Given the description of an element on the screen output the (x, y) to click on. 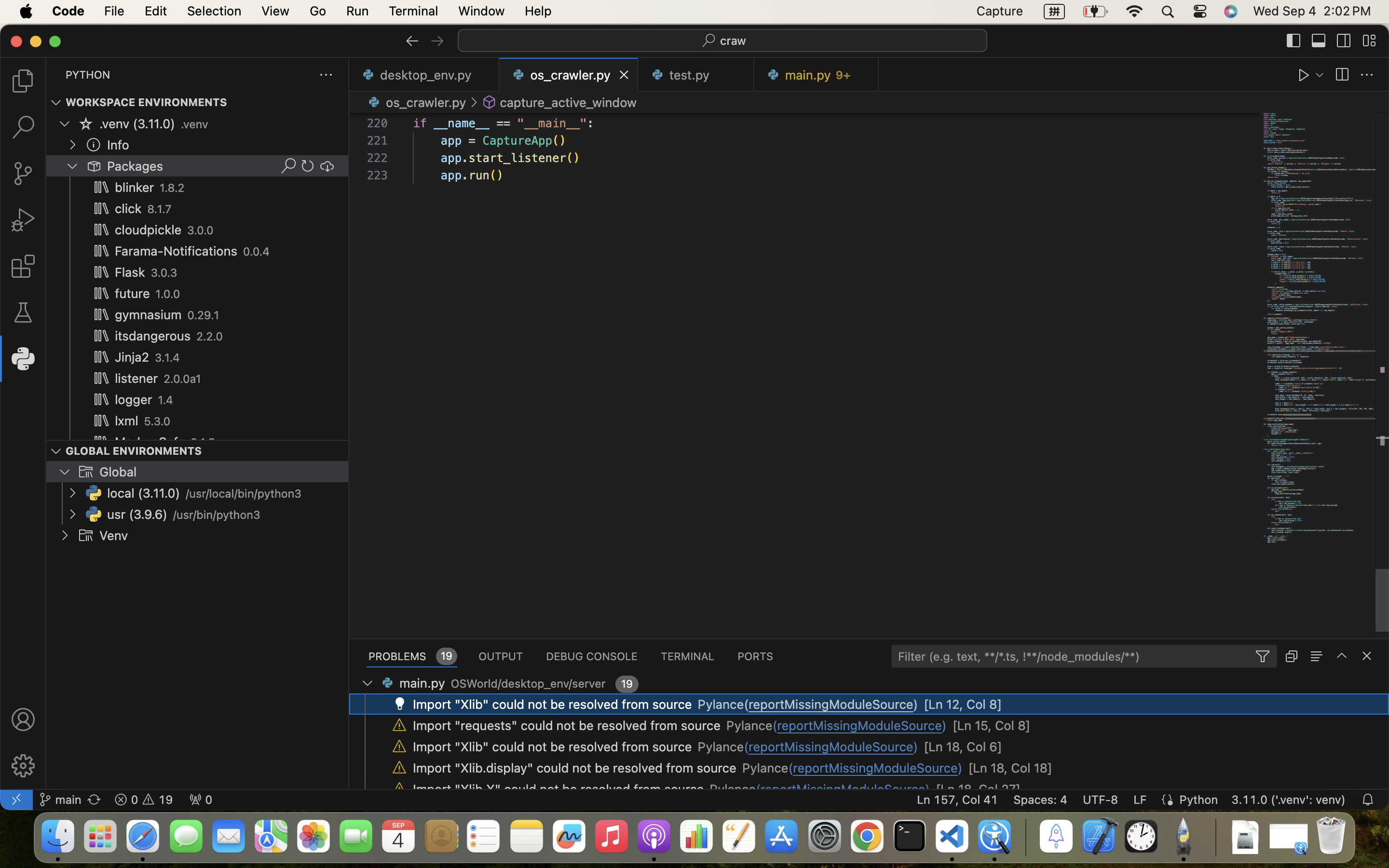
Packages Element type: AXStaticText (135, 166)
 Element type: AXButton (307, 165)
 Element type: AXCheckBox (1341, 655)
Farama-Notifications Element type: AXStaticText (176, 251)
blinker Element type: AXStaticText (134, 187)
